Given the description of an element on the screen output the (x, y) to click on. 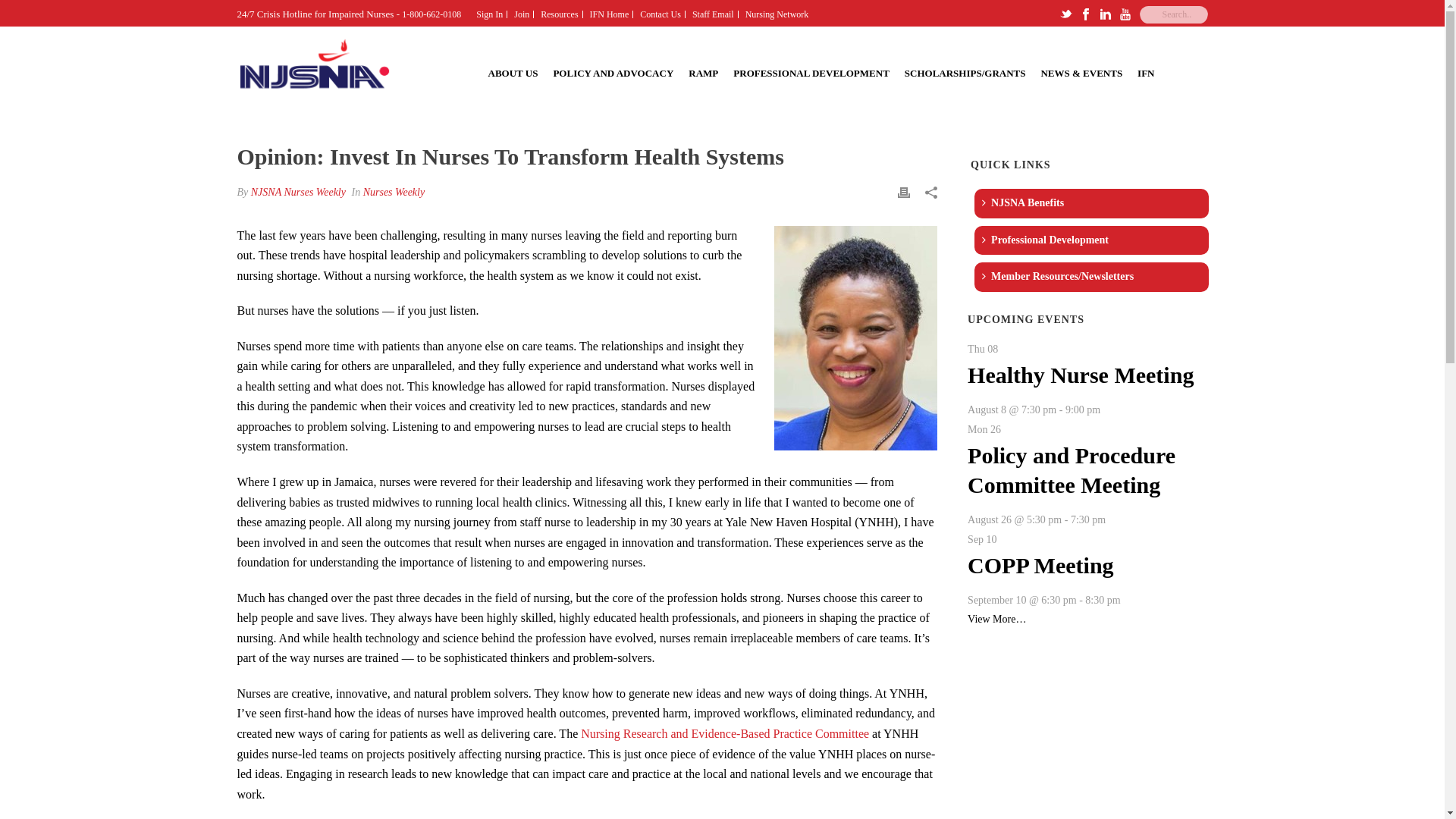
Join (522, 14)
PROFESSIONAL DEVELOPMENT (810, 71)
POLICY AND ADVOCACY (612, 71)
Sign In (488, 14)
PROFESSIONAL DEVELOPMENT (810, 71)
NJSNA (313, 71)
Staff Email (713, 14)
POLICY AND ADVOCACY (612, 71)
Resources (559, 14)
Nursing Network (776, 14)
Posts by NJSNA Nurses Weekly (298, 192)
1-800-662-0108 (431, 14)
IFN Home (609, 14)
Contact Us (660, 14)
